Given the description of an element on the screen output the (x, y) to click on. 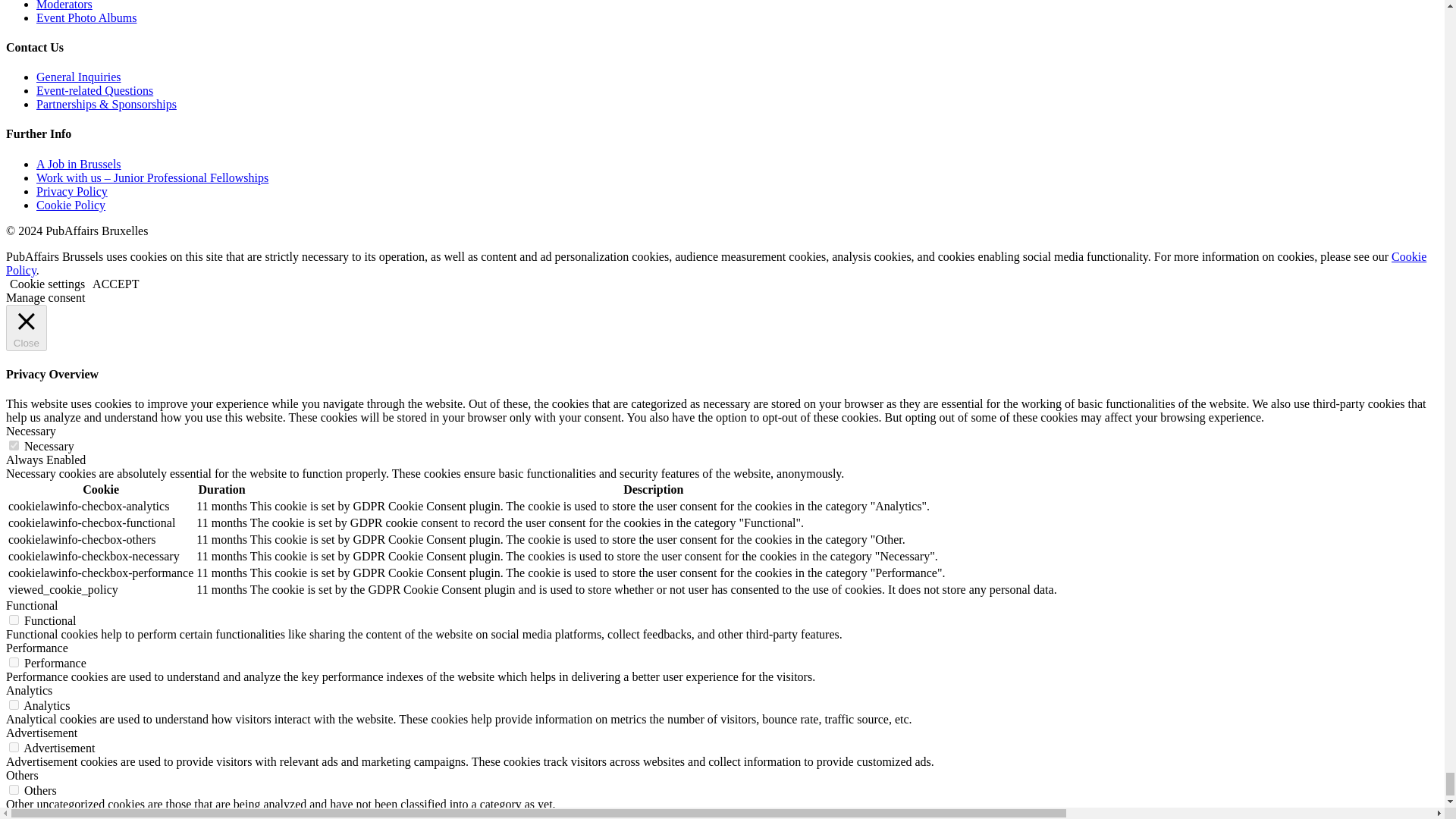
on (13, 705)
on (13, 747)
on (13, 662)
on (13, 619)
on (13, 789)
on (13, 445)
